Given the description of an element on the screen output the (x, y) to click on. 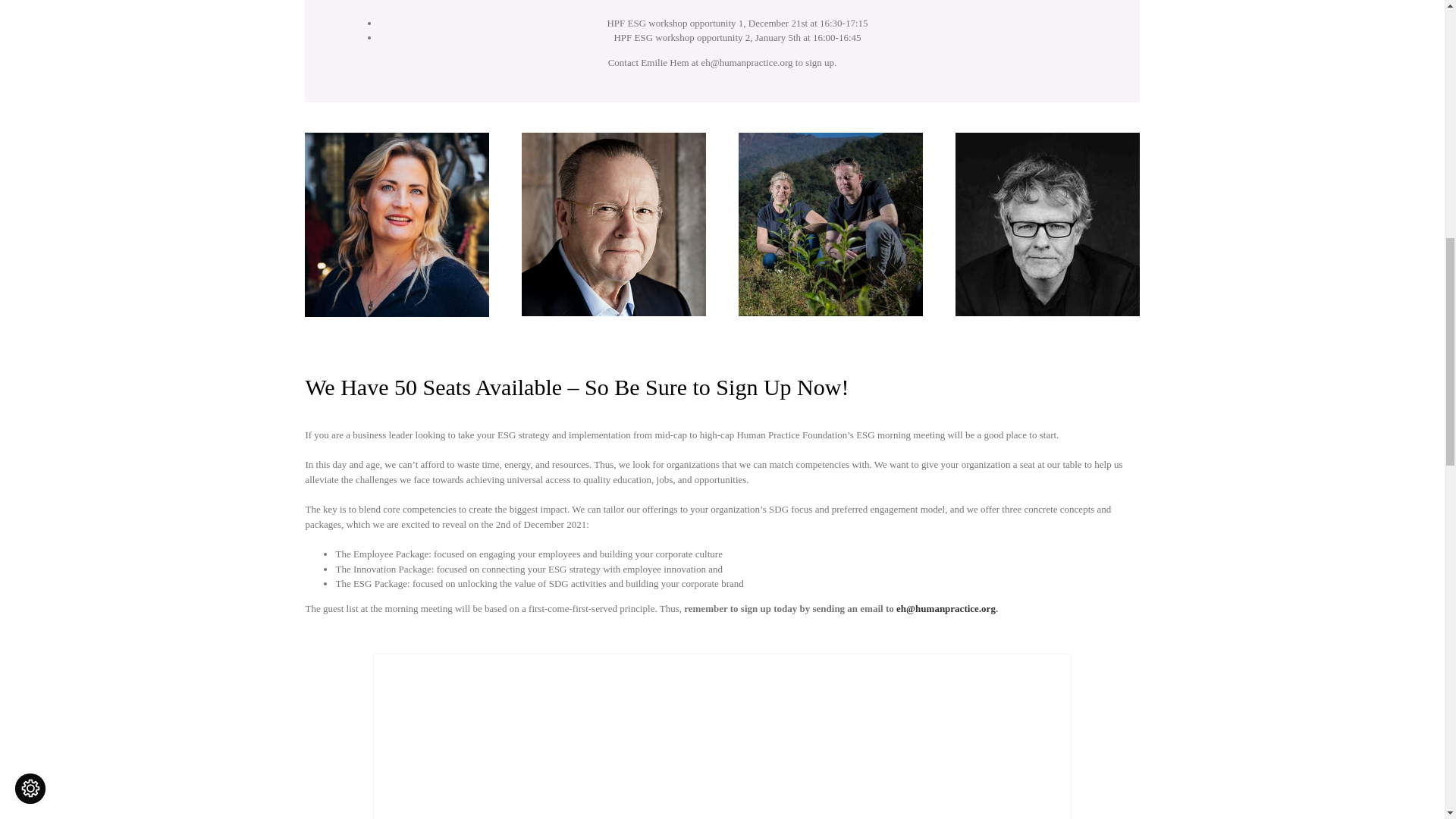
606778c6-85ad-24a9-4c3f-37b424386d3b (395, 224)
9e993fa2-af3b-745b-3aa6-9603a5b6476f (612, 224)
2bb6e0b2-90e6-ba01-adf9-5361145ac4dc (1046, 224)
eb062e75-65ea-233d-c158-2e7f854e9e8a (722, 736)
5d8b9c86-fc4f-9eef-a0e3-7212be7a9ba3 (829, 224)
